Given the description of an element on the screen output the (x, y) to click on. 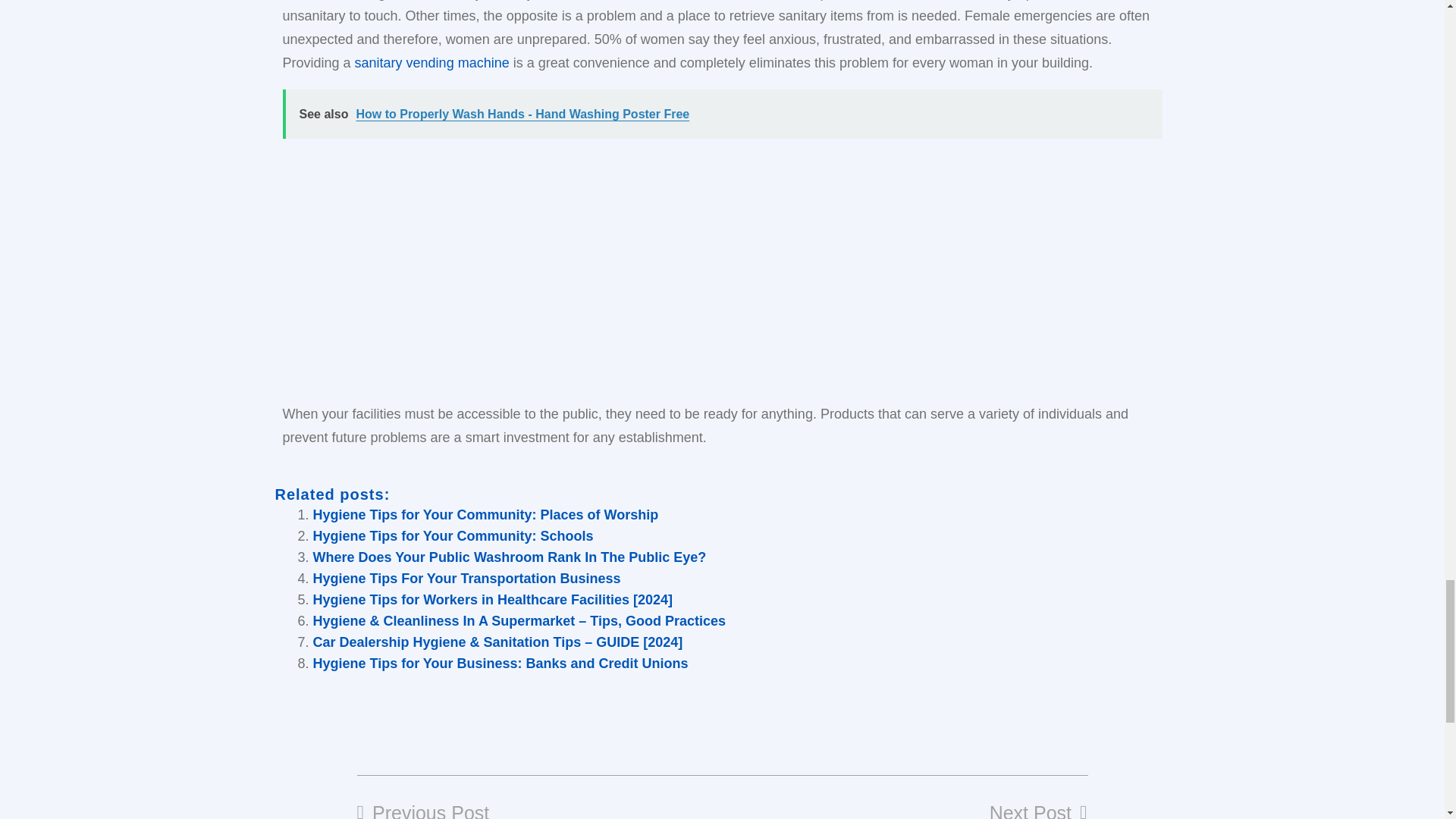
Hygiene Tips for Your Community: Places of Worship (485, 514)
Hygiene Tips For Your Transportation Business (466, 578)
Hygiene Tips for Your Community: Schools (452, 535)
Where Does Your Public Washroom Rank In The Public Eye? (509, 557)
Hygiene Tips for Your Business: Banks and Credit Unions (500, 663)
